Given the description of an element on the screen output the (x, y) to click on. 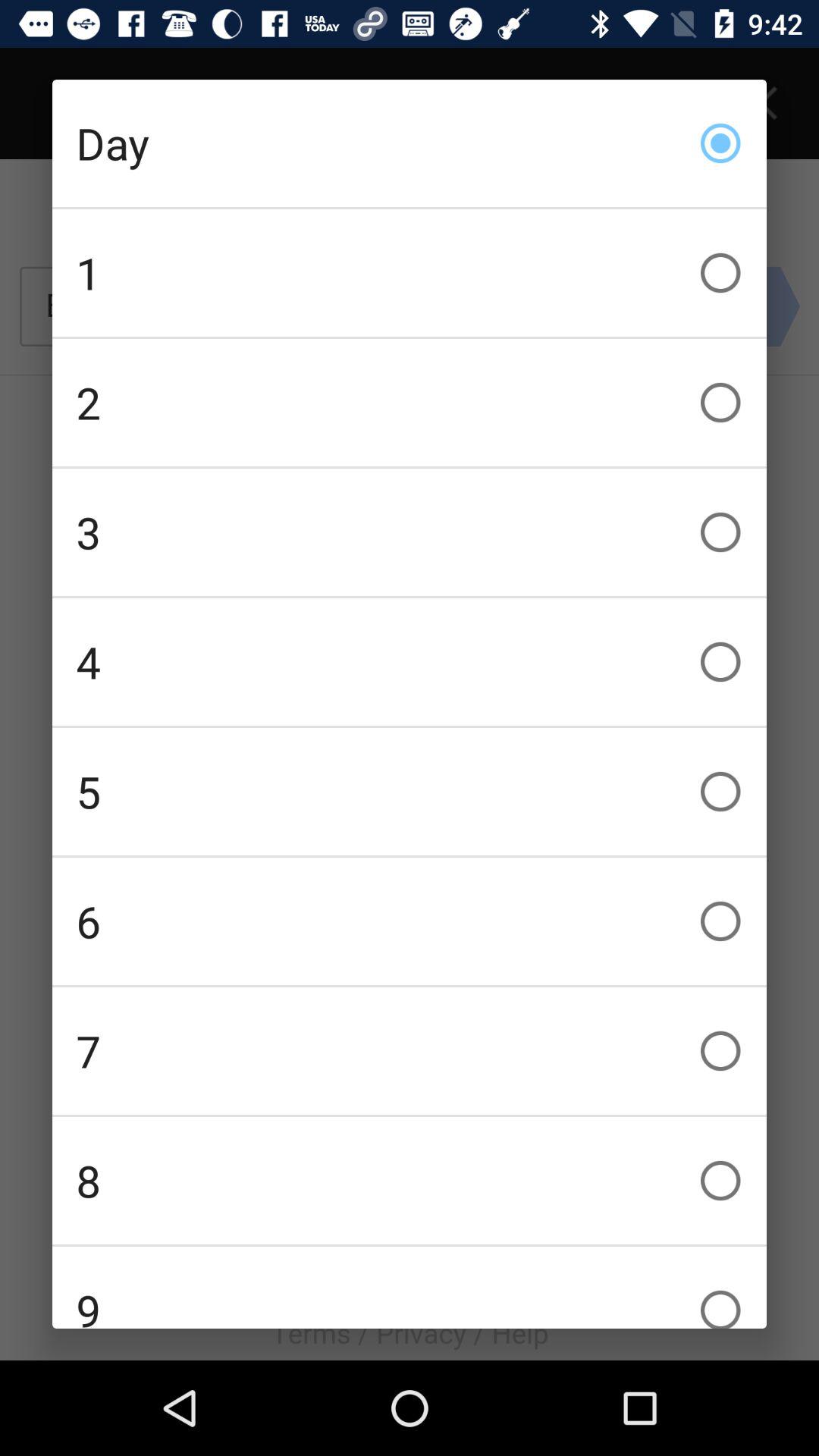
select icon below the 1 (409, 402)
